Given the description of an element on the screen output the (x, y) to click on. 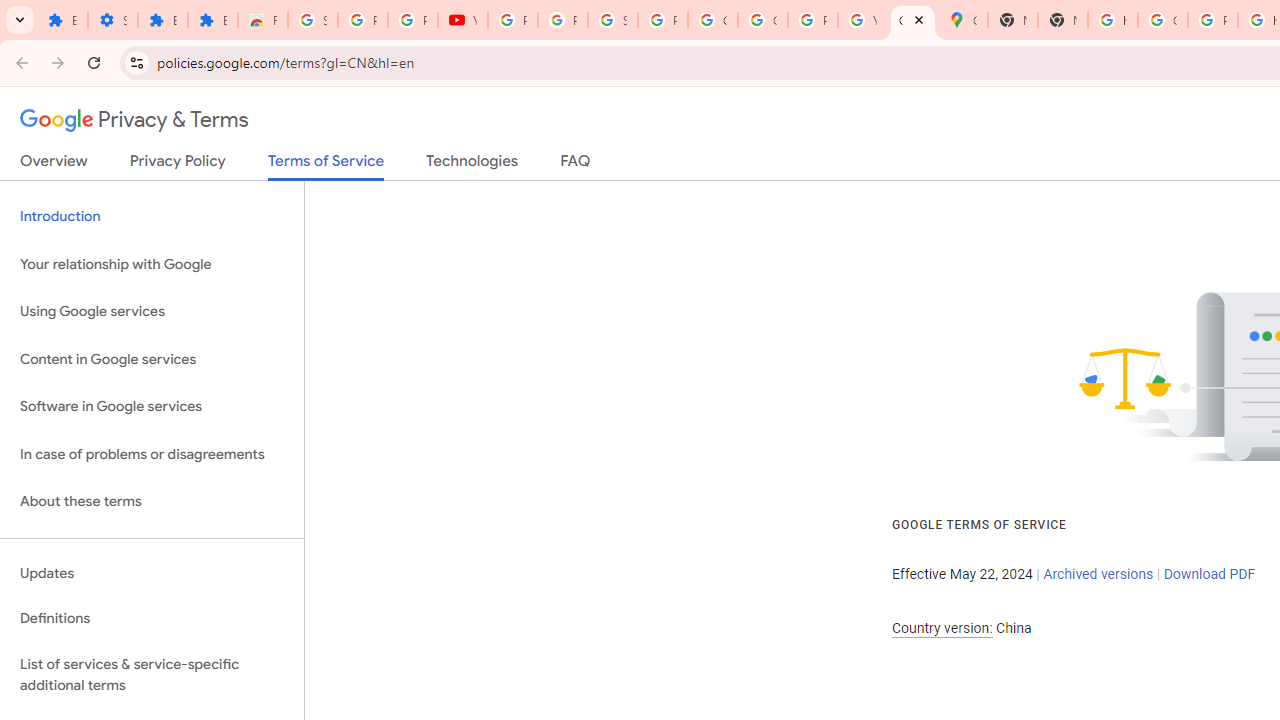
Extensions (62, 20)
Using Google services (152, 312)
Sign in - Google Accounts (612, 20)
YouTube (863, 20)
About these terms (152, 502)
